Given the description of an element on the screen output the (x, y) to click on. 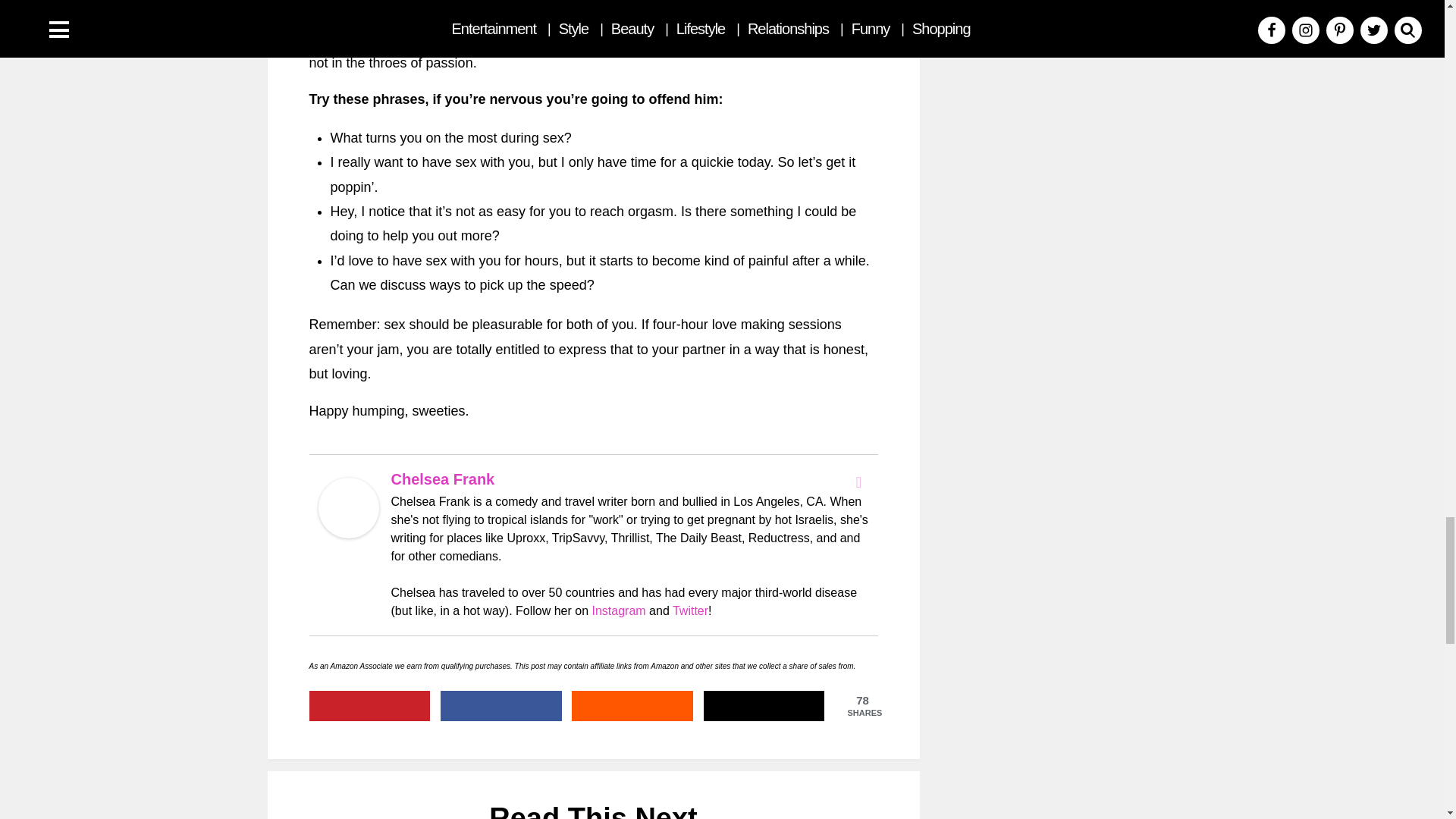
Save to Pinterest (369, 706)
Share on Facebook (501, 706)
Twitter (857, 482)
Share on X (764, 706)
Share on Reddit (632, 706)
